Given the description of an element on the screen output the (x, y) to click on. 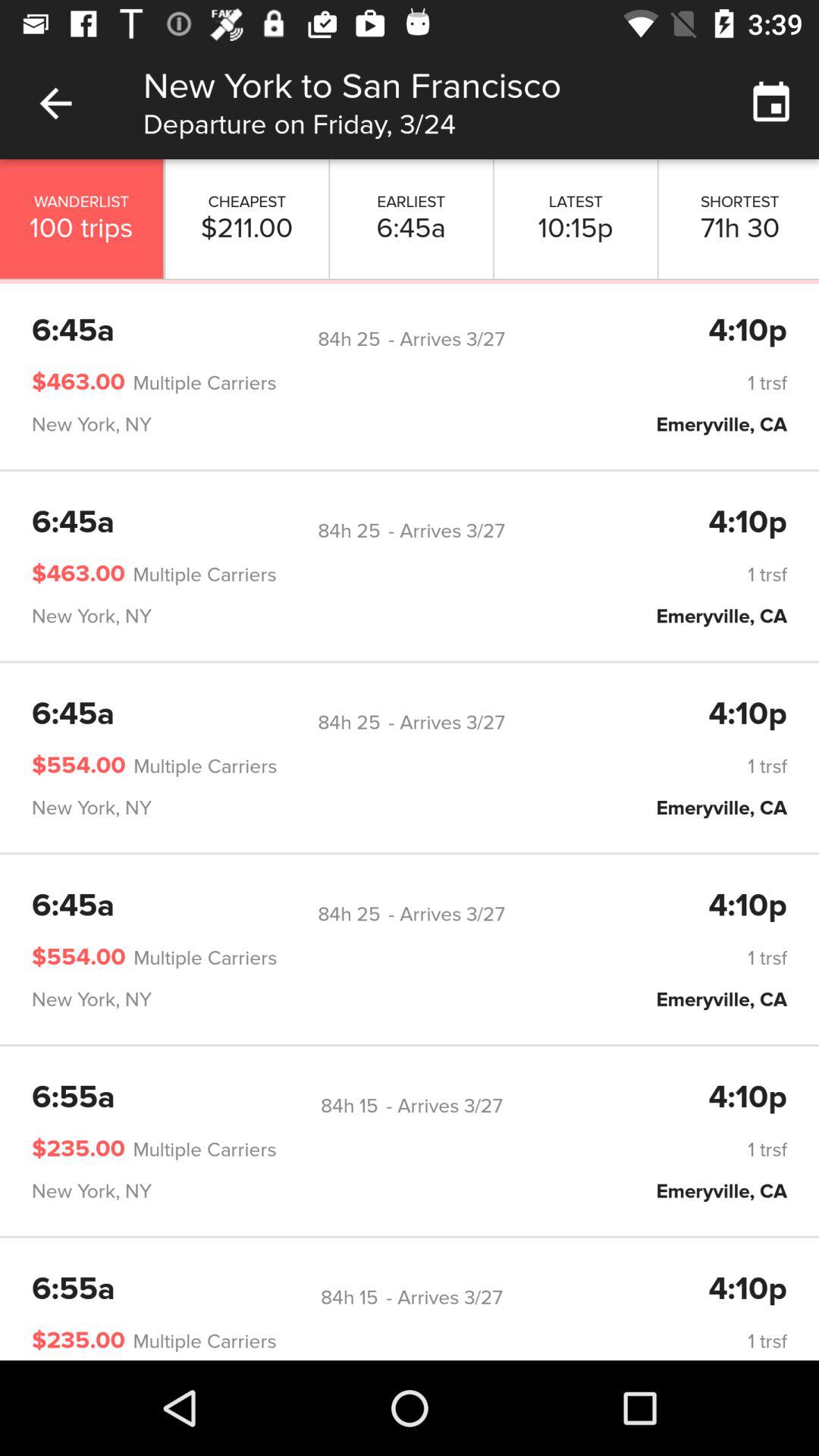
go back to previous screen (55, 103)
